Given the description of an element on the screen output the (x, y) to click on. 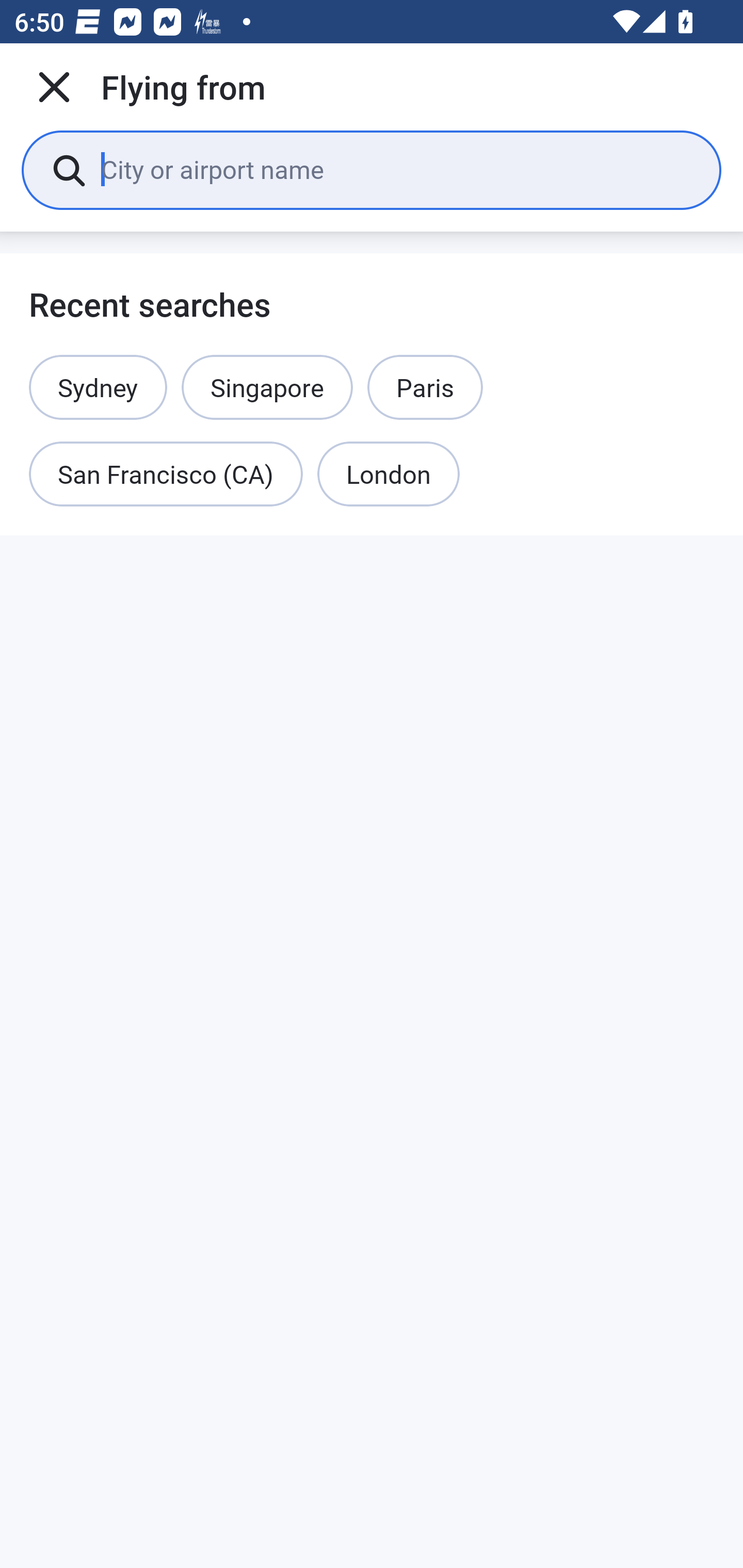
City or airport name (396, 169)
Sydney (97, 387)
Singapore (266, 387)
Paris (424, 387)
San Francisco (CA) (165, 474)
London (388, 474)
